Given the description of an element on the screen output the (x, y) to click on. 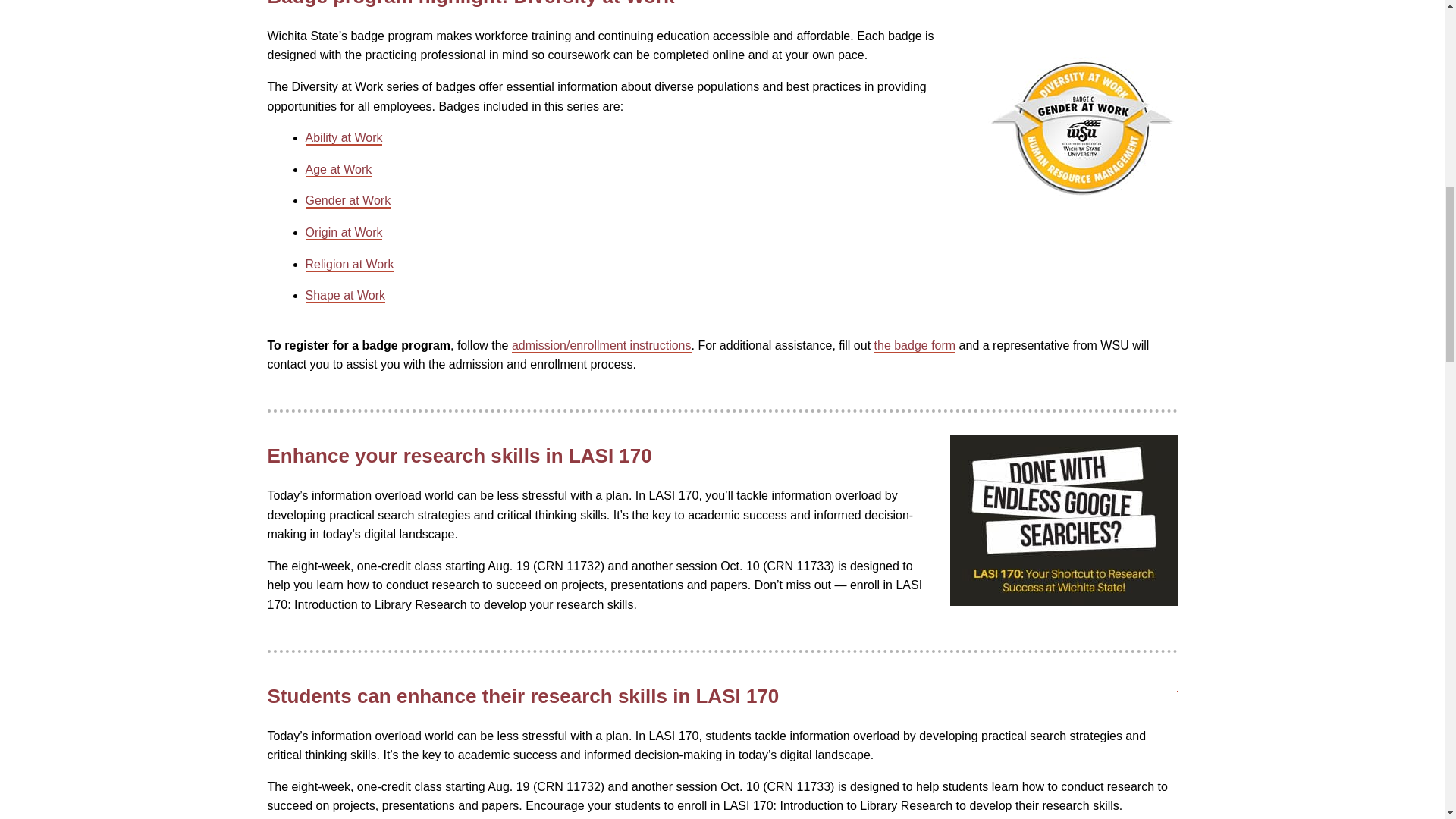
Enhance your research skills in LASI 170 (1062, 520)
